Given the description of an element on the screen output the (x, y) to click on. 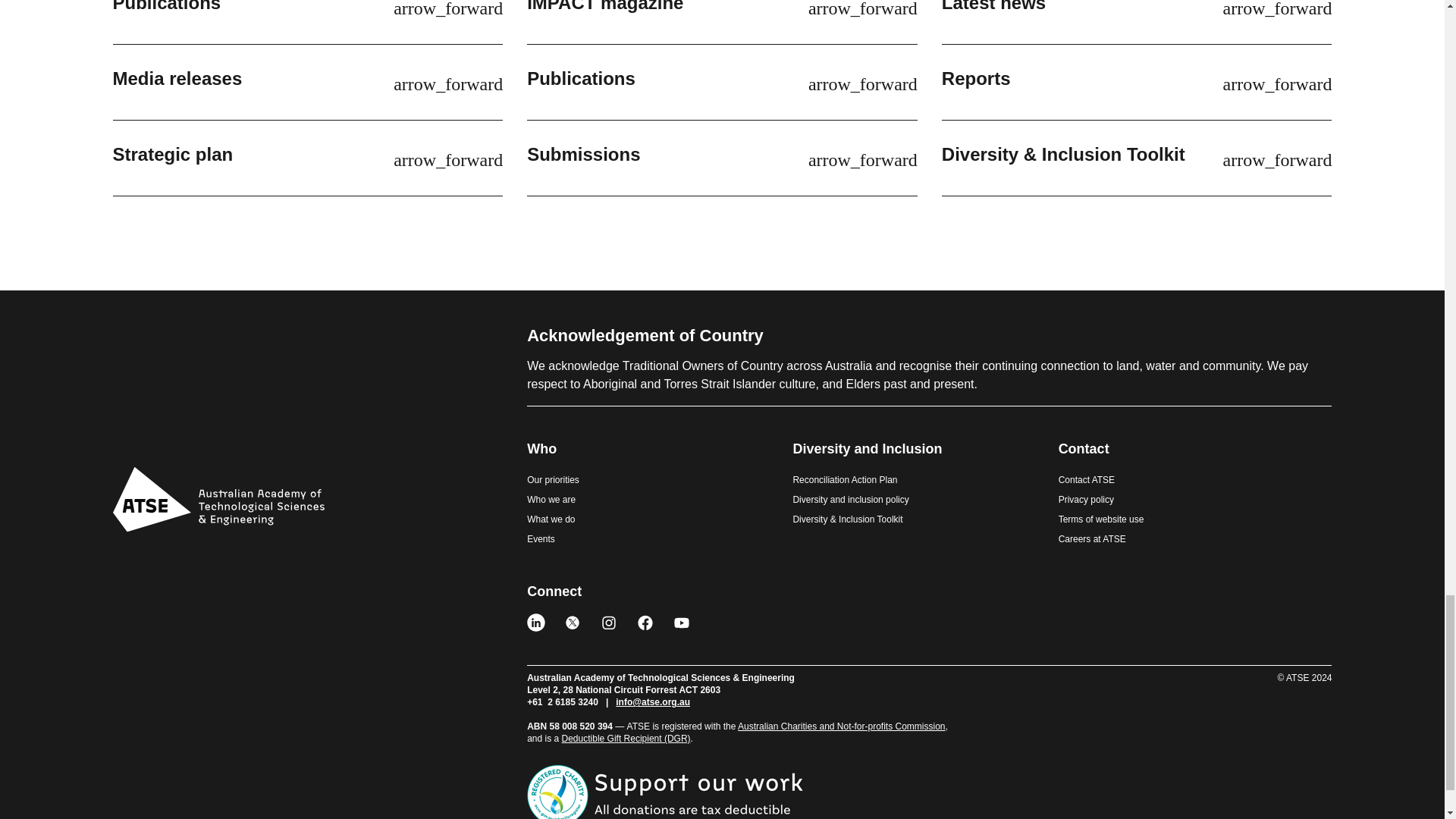
Logo (217, 498)
Instagram (608, 621)
LinkedIn (535, 621)
X (571, 621)
